Given the description of an element on the screen output the (x, y) to click on. 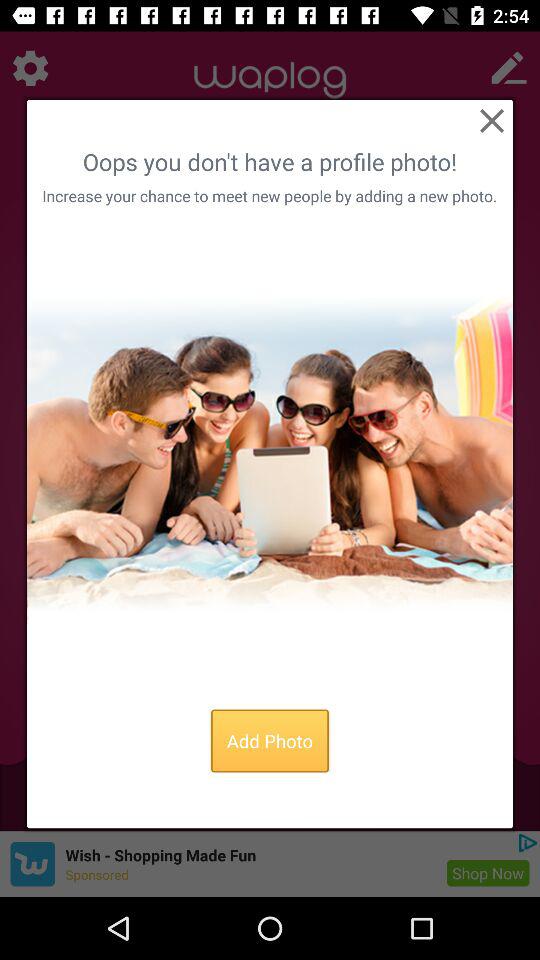
press add photo item (269, 740)
